Given the description of an element on the screen output the (x, y) to click on. 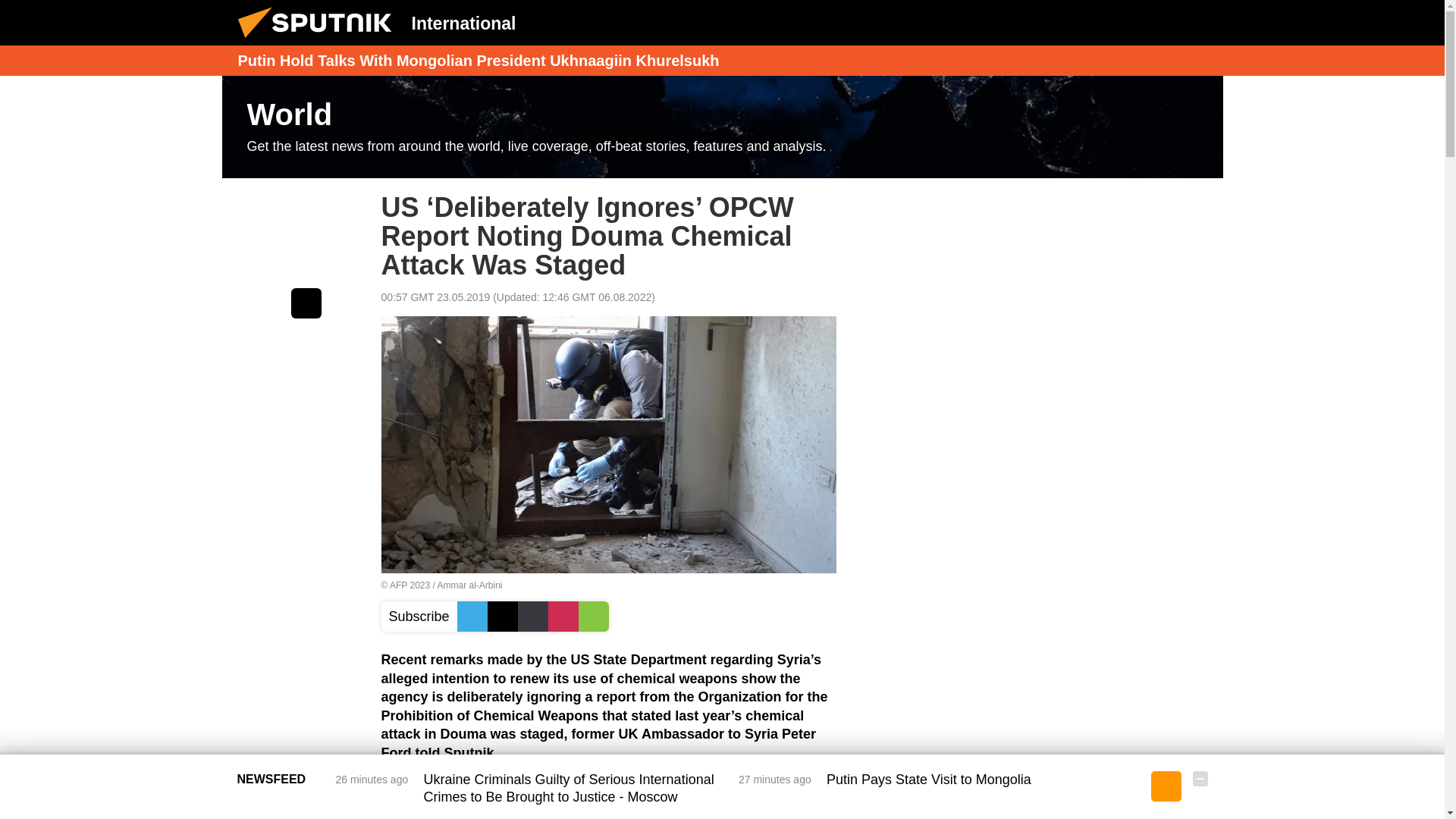
World (722, 127)
Sputnik International (319, 41)
Chats (1199, 22)
Authorization (1123, 22)
